Given the description of an element on the screen output the (x, y) to click on. 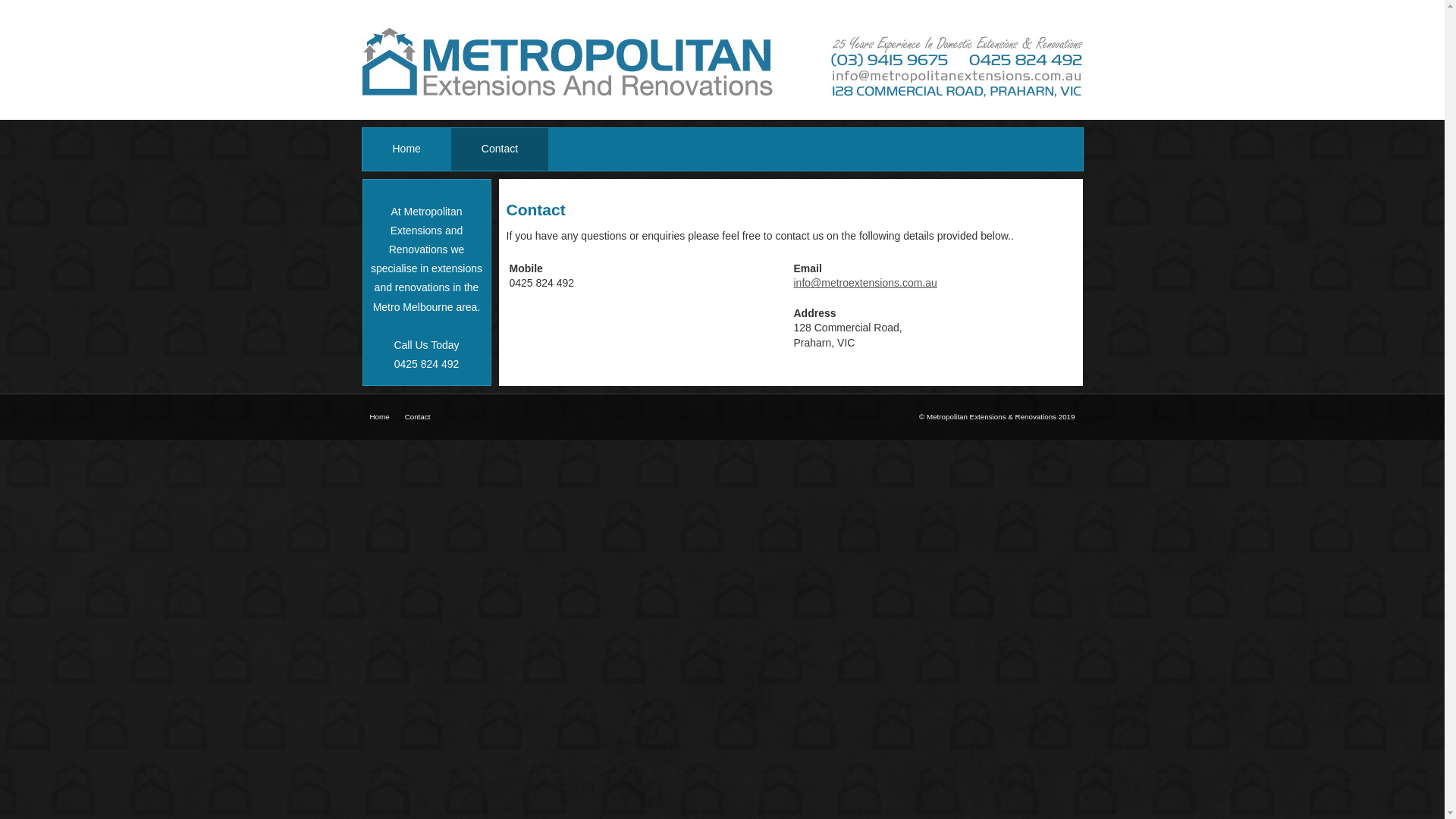
Home Element type: text (406, 149)
Contact Element type: text (499, 149)
info@metroextensions.com.au Element type: text (864, 282)
Home Element type: text (379, 416)
Contact Element type: text (417, 416)
